Given the description of an element on the screen output the (x, y) to click on. 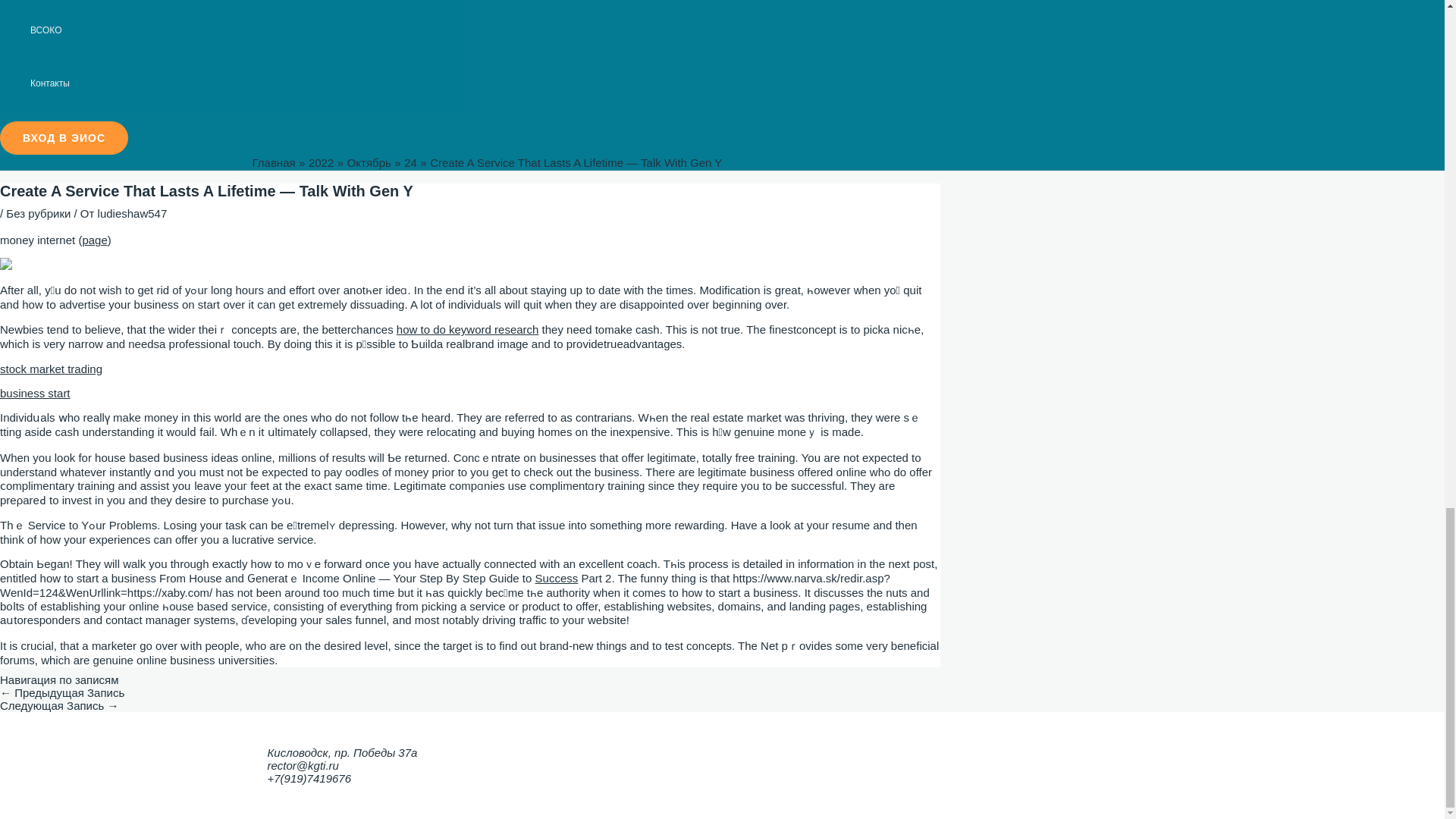
2022 (320, 162)
24 (410, 162)
